Given the description of an element on the screen output the (x, y) to click on. 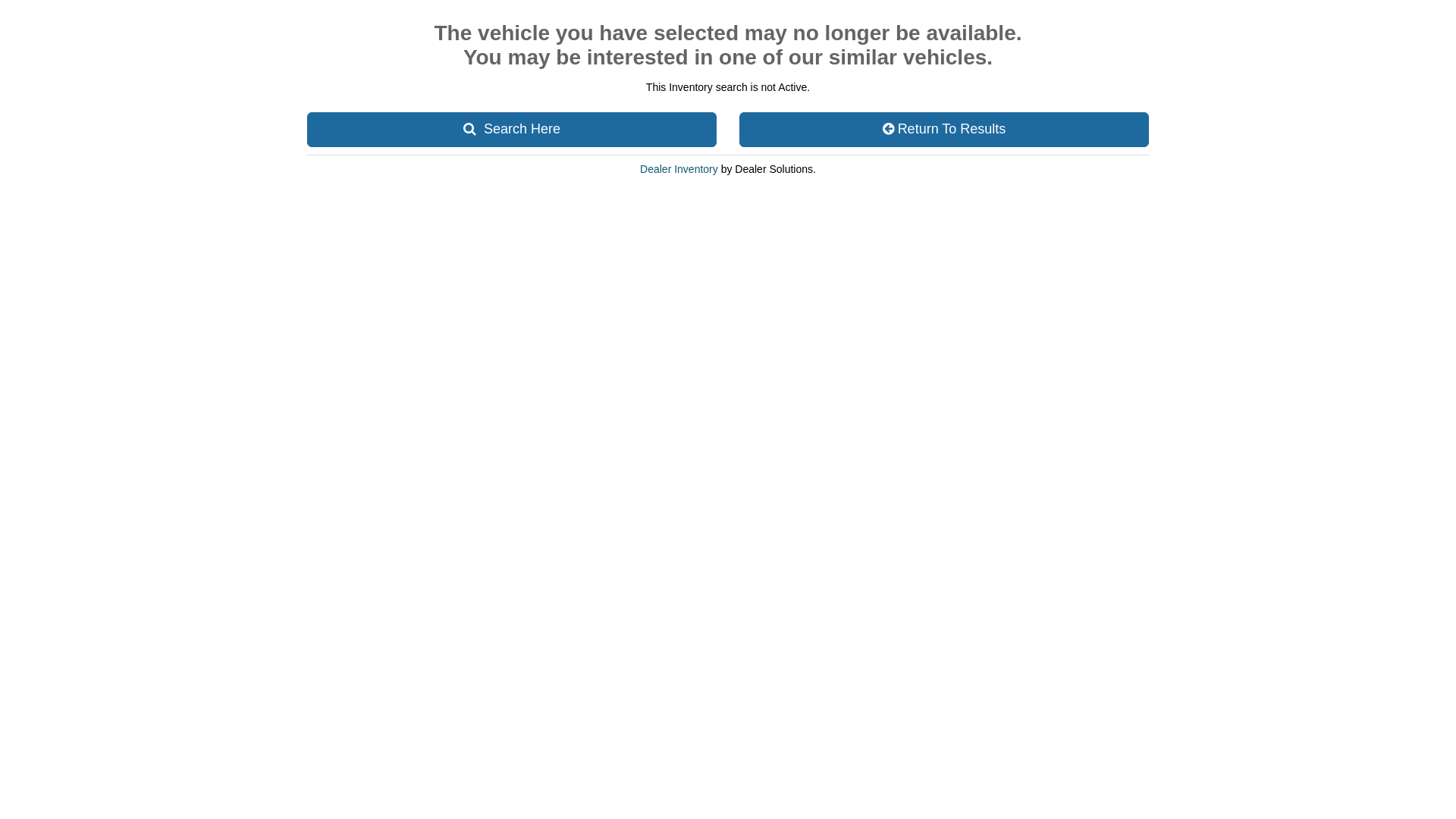
Dealer Inventory Element type: text (679, 169)
Search Here Element type: text (511, 129)
Return To Results Element type: text (943, 129)
